Given the description of an element on the screen output the (x, y) to click on. 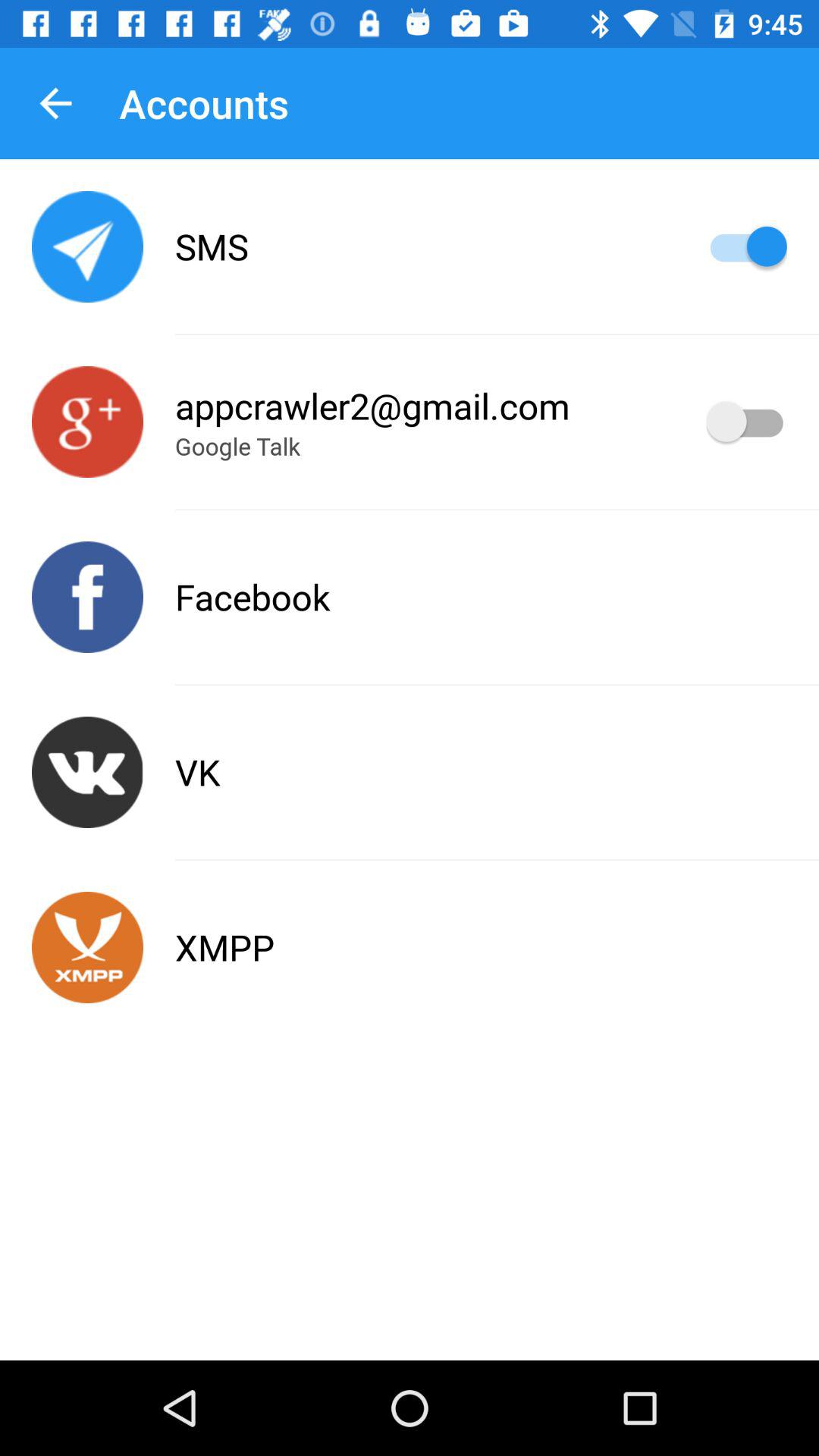
talvez seja somente um problema (87, 772)
